Given the description of an element on the screen output the (x, y) to click on. 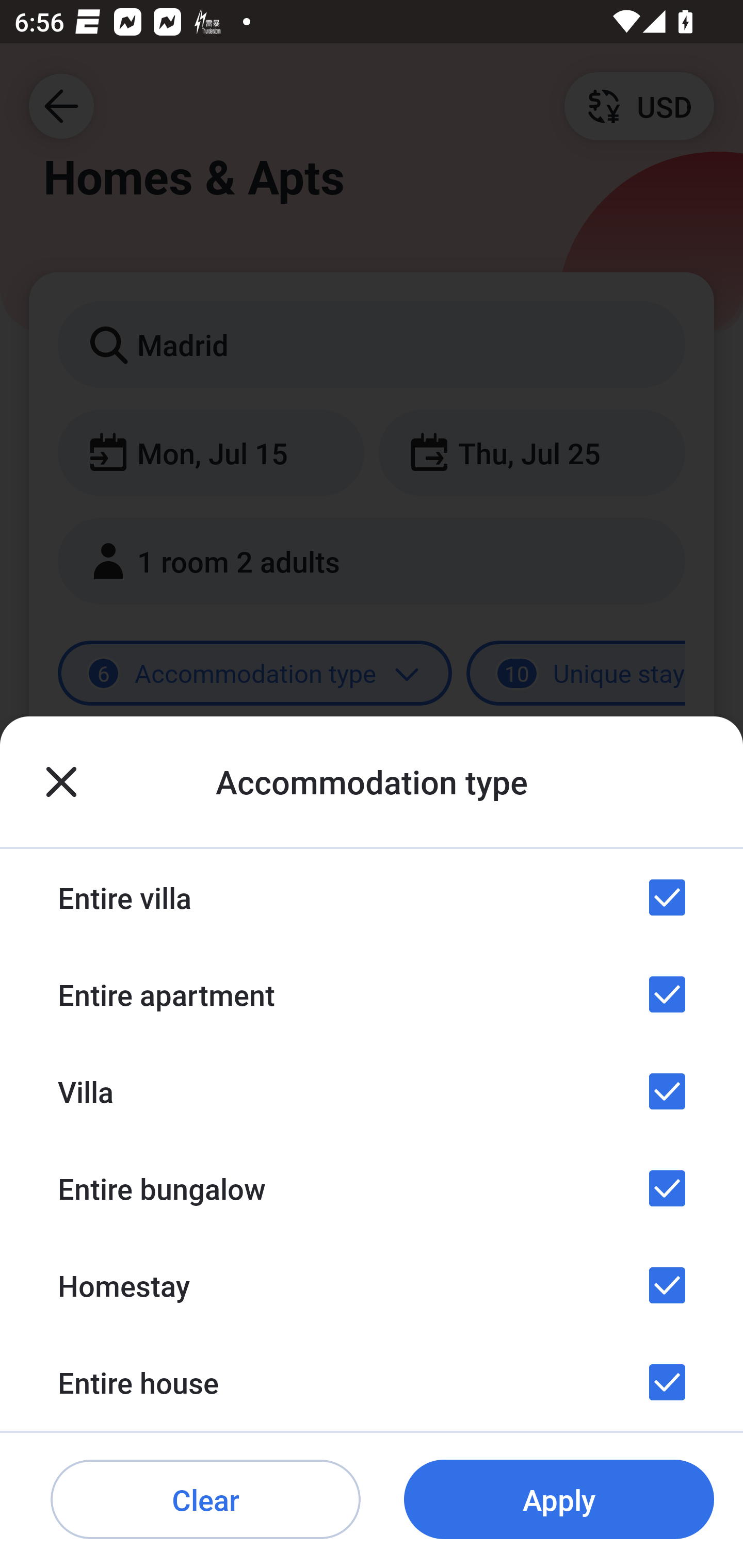
Entire villa (371, 897)
Entire apartment (371, 994)
Villa (371, 1091)
Entire bungalow (371, 1188)
Homestay (371, 1284)
Entire house (371, 1382)
Clear (205, 1499)
Apply (559, 1499)
